Given the description of an element on the screen output the (x, y) to click on. 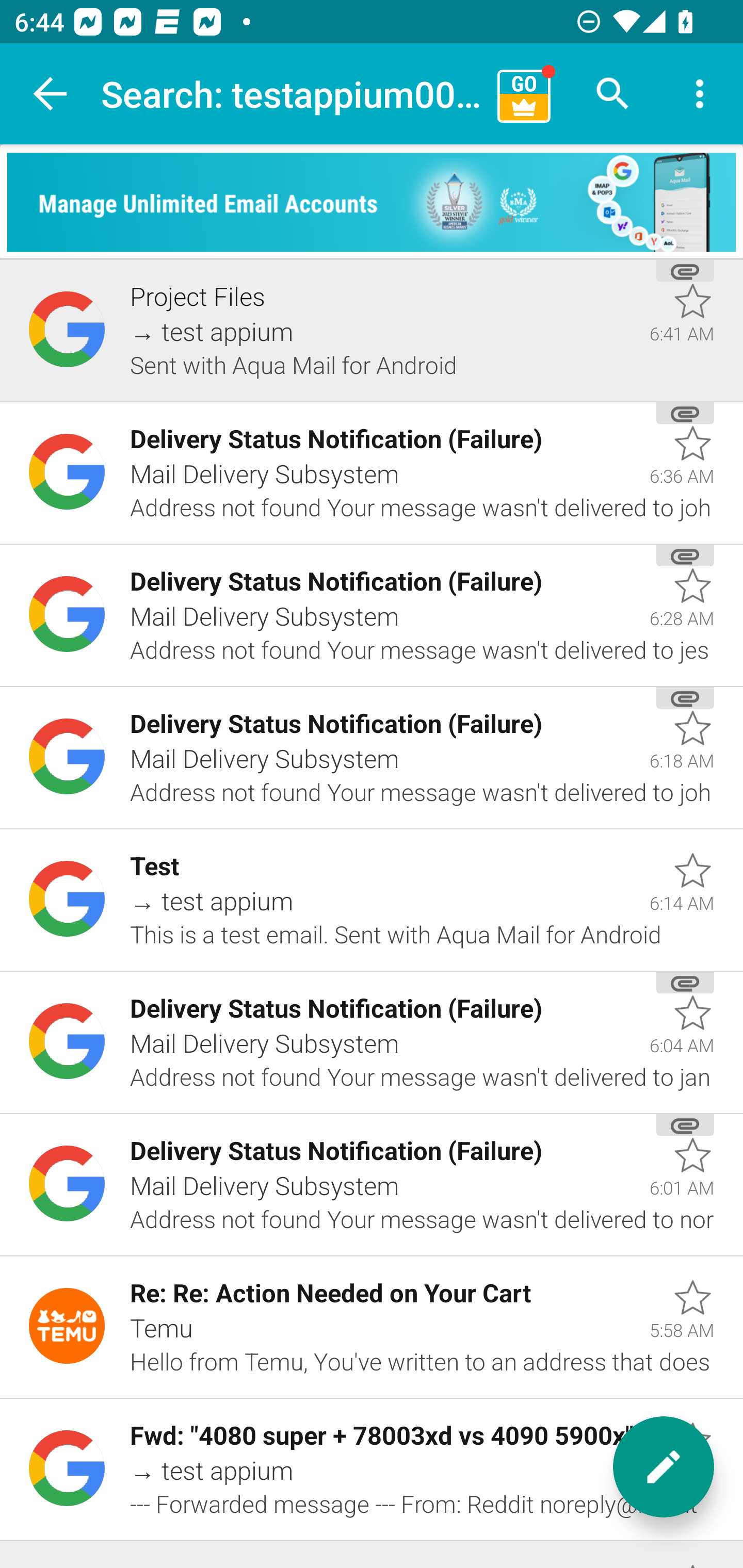
Navigate up (50, 93)
Search (612, 93)
More options (699, 93)
New message (663, 1466)
